Given the description of an element on the screen output the (x, y) to click on. 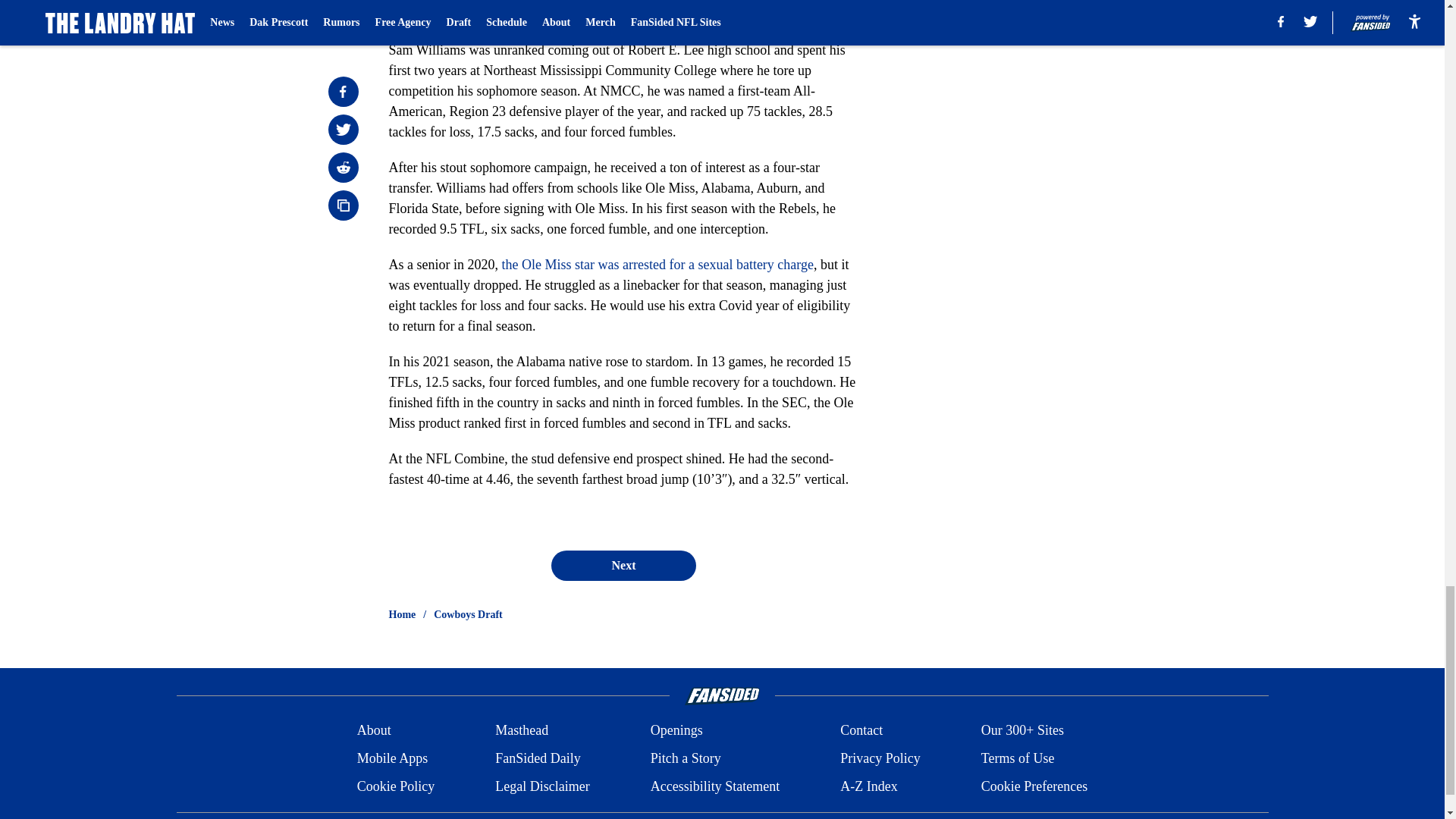
Home (401, 614)
Openings (676, 730)
Cowboys Draft (467, 614)
the Ole Miss star was arrested for a sexual battery charge (656, 264)
Mobile Apps (392, 758)
Next (622, 565)
Masthead (521, 730)
Contact (861, 730)
About (373, 730)
